Given the description of an element on the screen output the (x, y) to click on. 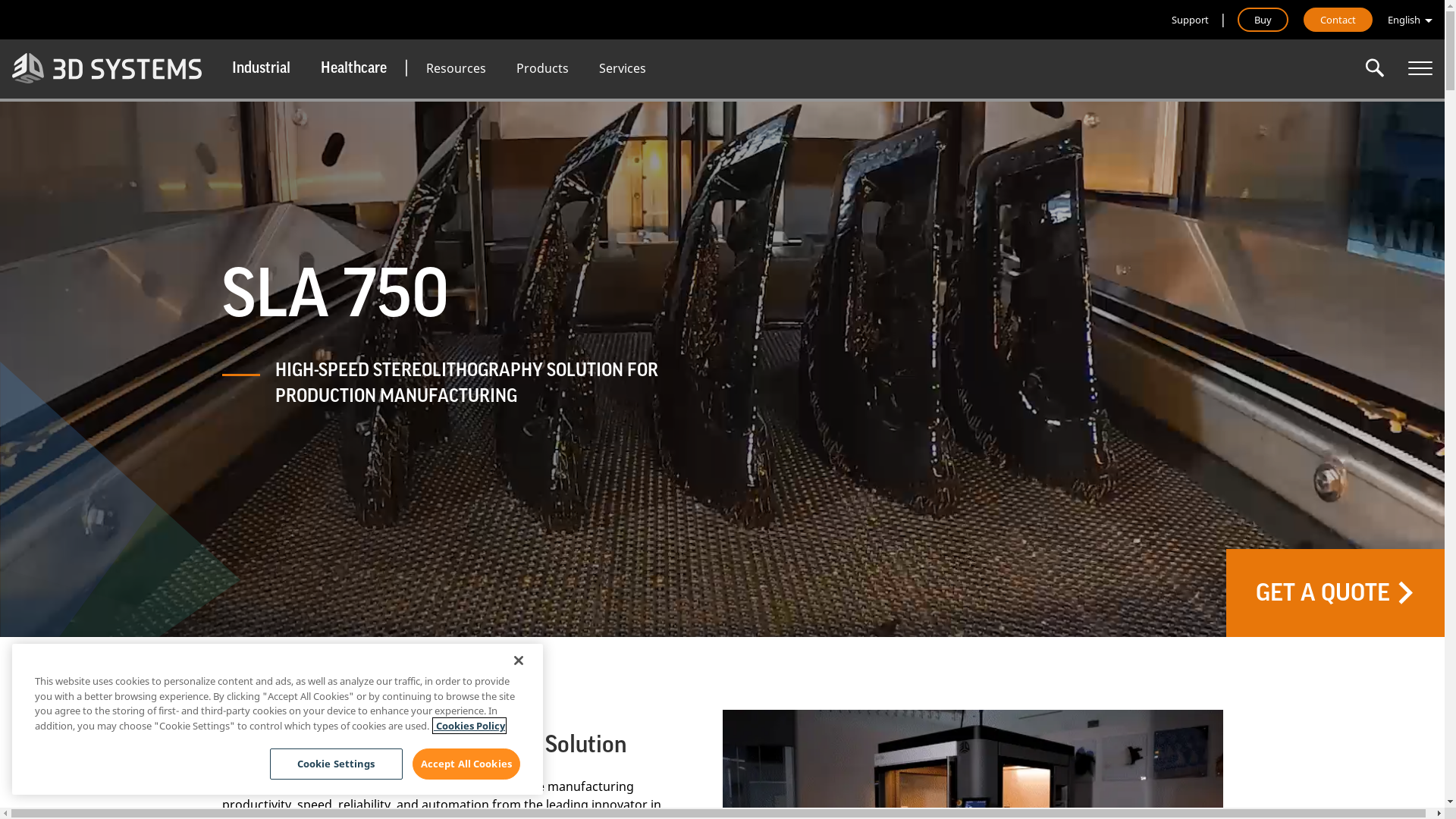
All 3D Systems Element type: text (1420, 68)
English Element type: text (1409, 20)
Resources Element type: text (456, 67)
Accept All Cookies Element type: text (466, 764)
Buy Element type: text (1262, 19)
Industrial Element type: text (260, 67)
Healthcare Element type: text (353, 67)
Support Element type: text (1189, 19)
GET A QUOTE Element type: text (1335, 593)
Cookie Settings Element type: text (335, 764)
Cookies Policy Element type: text (469, 725)
Services Element type: text (622, 67)
Products Element type: text (542, 67)
Skip to main content Element type: text (0, 0)
Contact Element type: text (1337, 19)
Enter the terms you wish to search for. Element type: hover (1374, 67)
Search Element type: text (1374, 67)
